Given the description of an element on the screen output the (x, y) to click on. 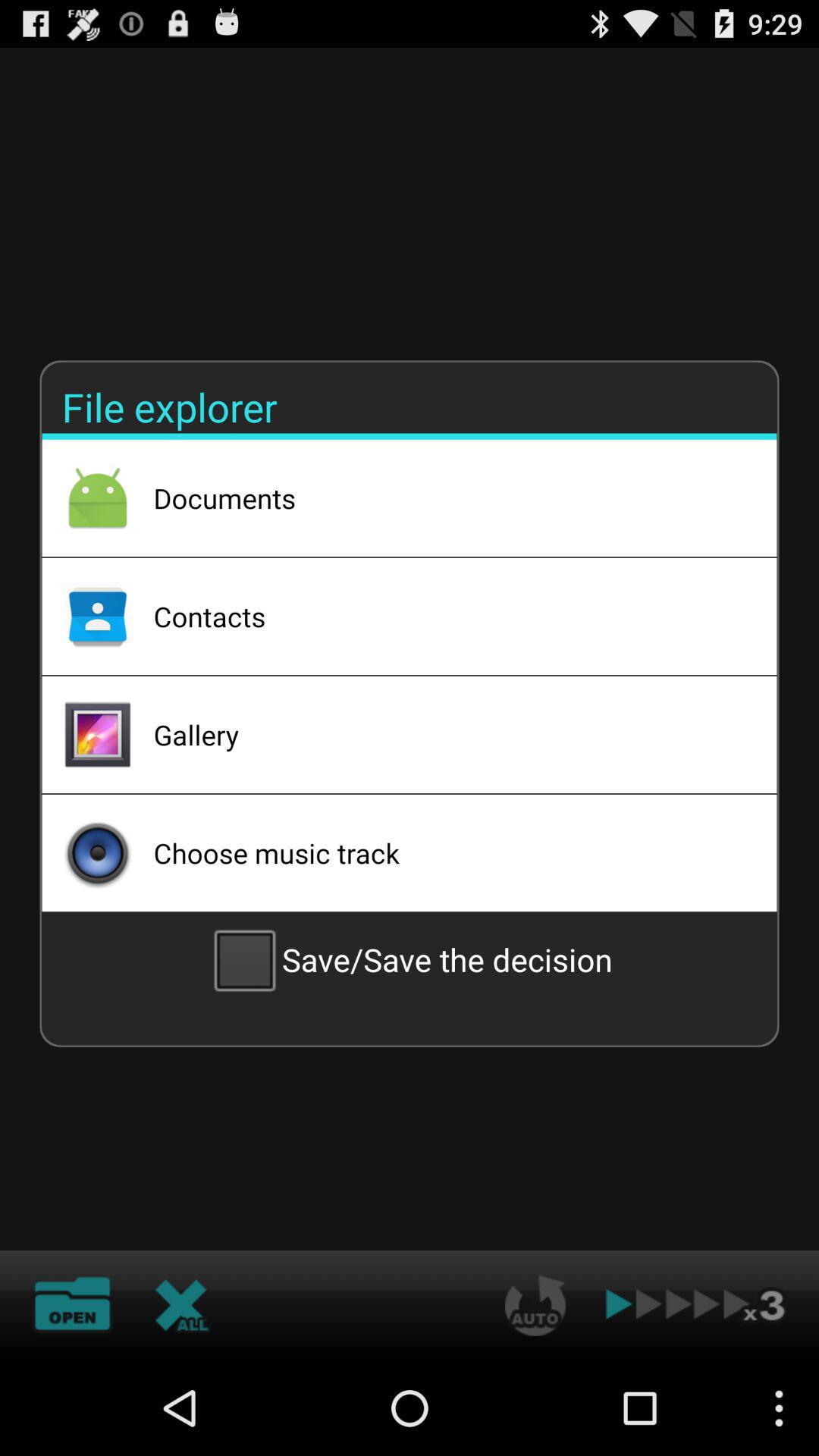
click the contacts item (445, 616)
